Given the description of an element on the screen output the (x, y) to click on. 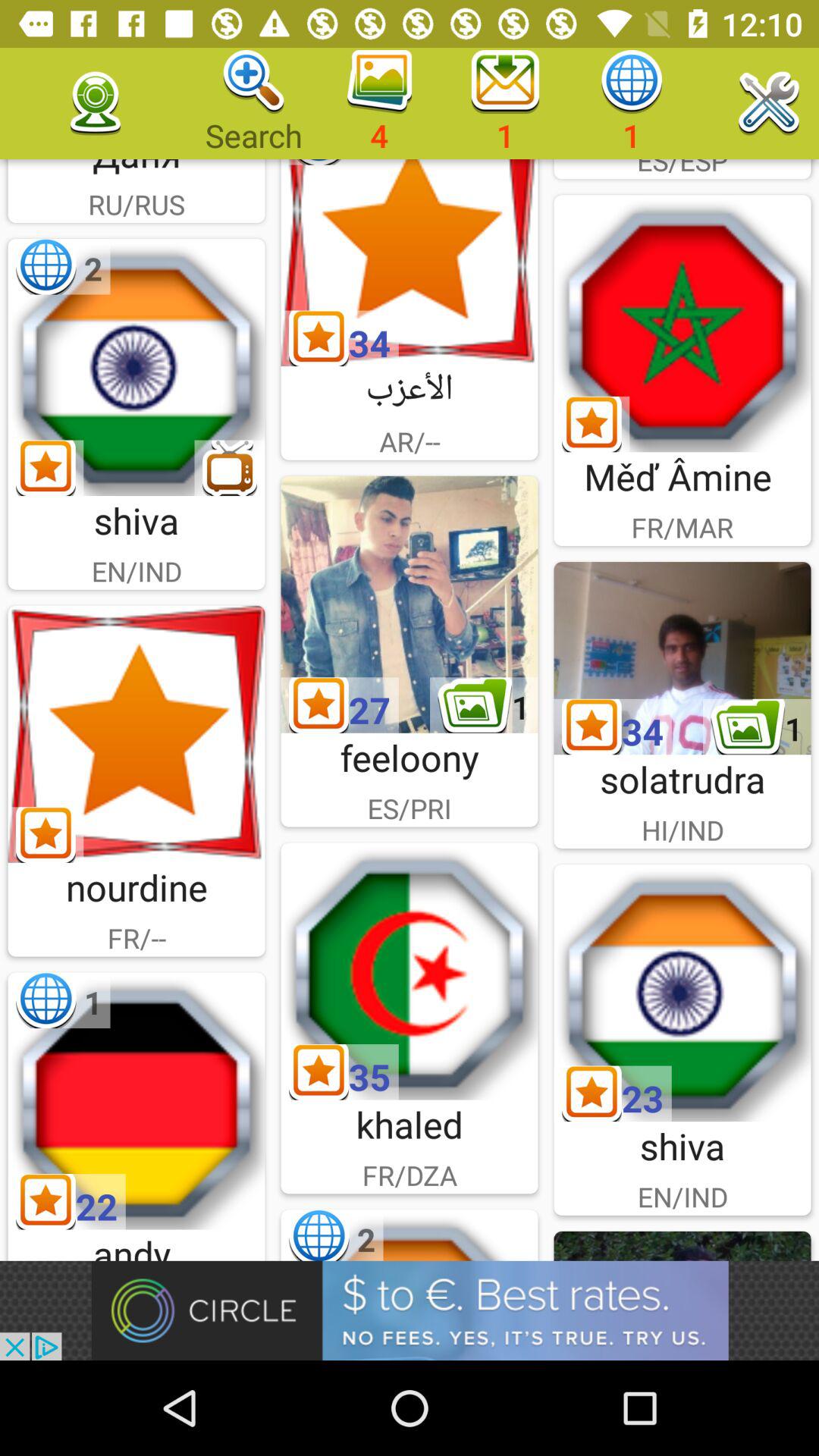
photo for solatrudra 's profile (682, 657)
